Given the description of an element on the screen output the (x, y) to click on. 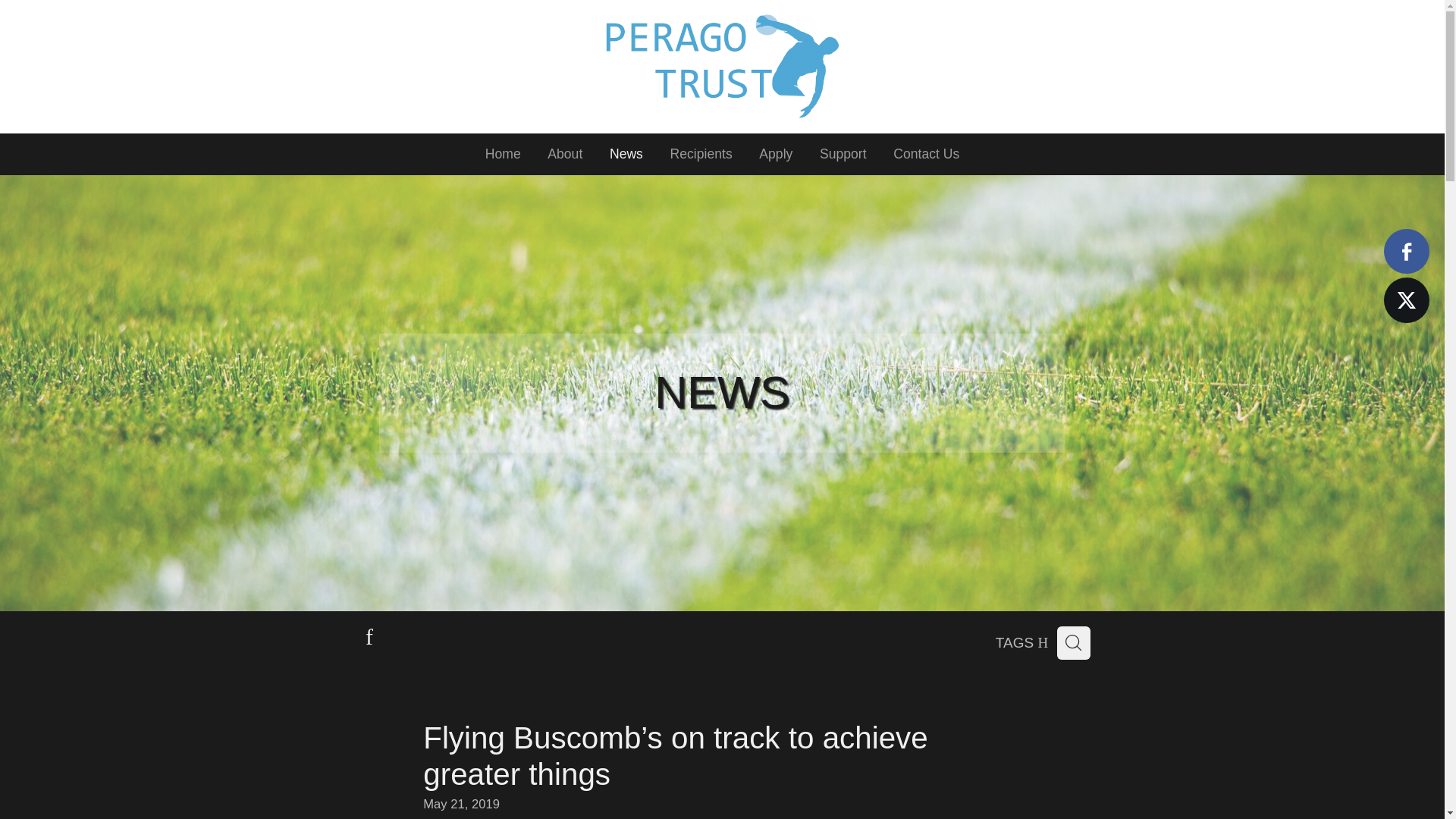
About (564, 154)
Recipients (700, 154)
Support (842, 154)
Home (502, 154)
View all posts (369, 639)
f (369, 639)
A link to this website's X. (1406, 299)
News (625, 154)
A link to this website's Facebook. (1406, 251)
Apply (775, 154)
Contact Us (925, 154)
